Given the description of an element on the screen output the (x, y) to click on. 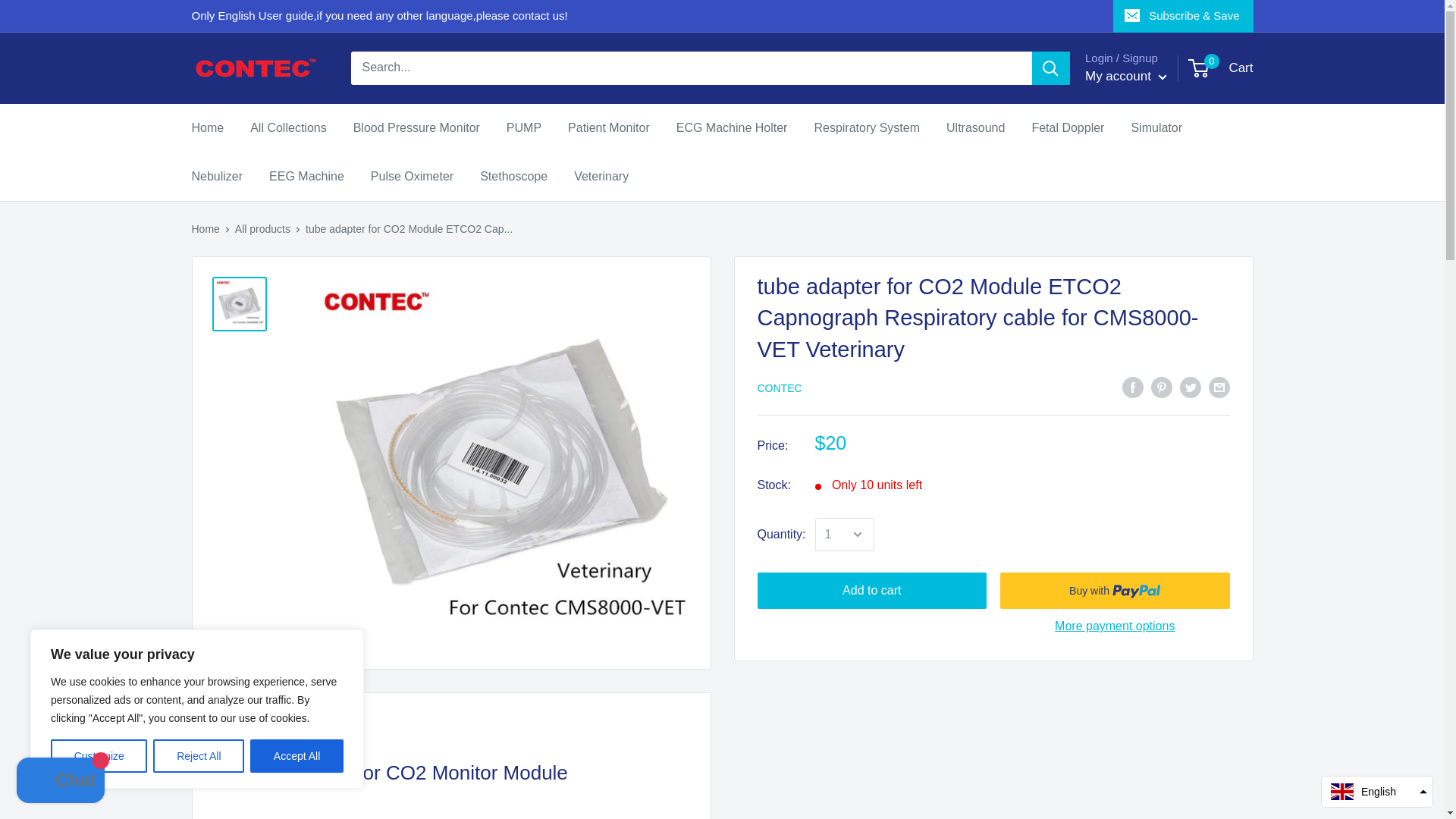
Shopify online store chat (60, 781)
Accept All (296, 756)
Customize (98, 756)
Reject All (198, 756)
